Given the description of an element on the screen output the (x, y) to click on. 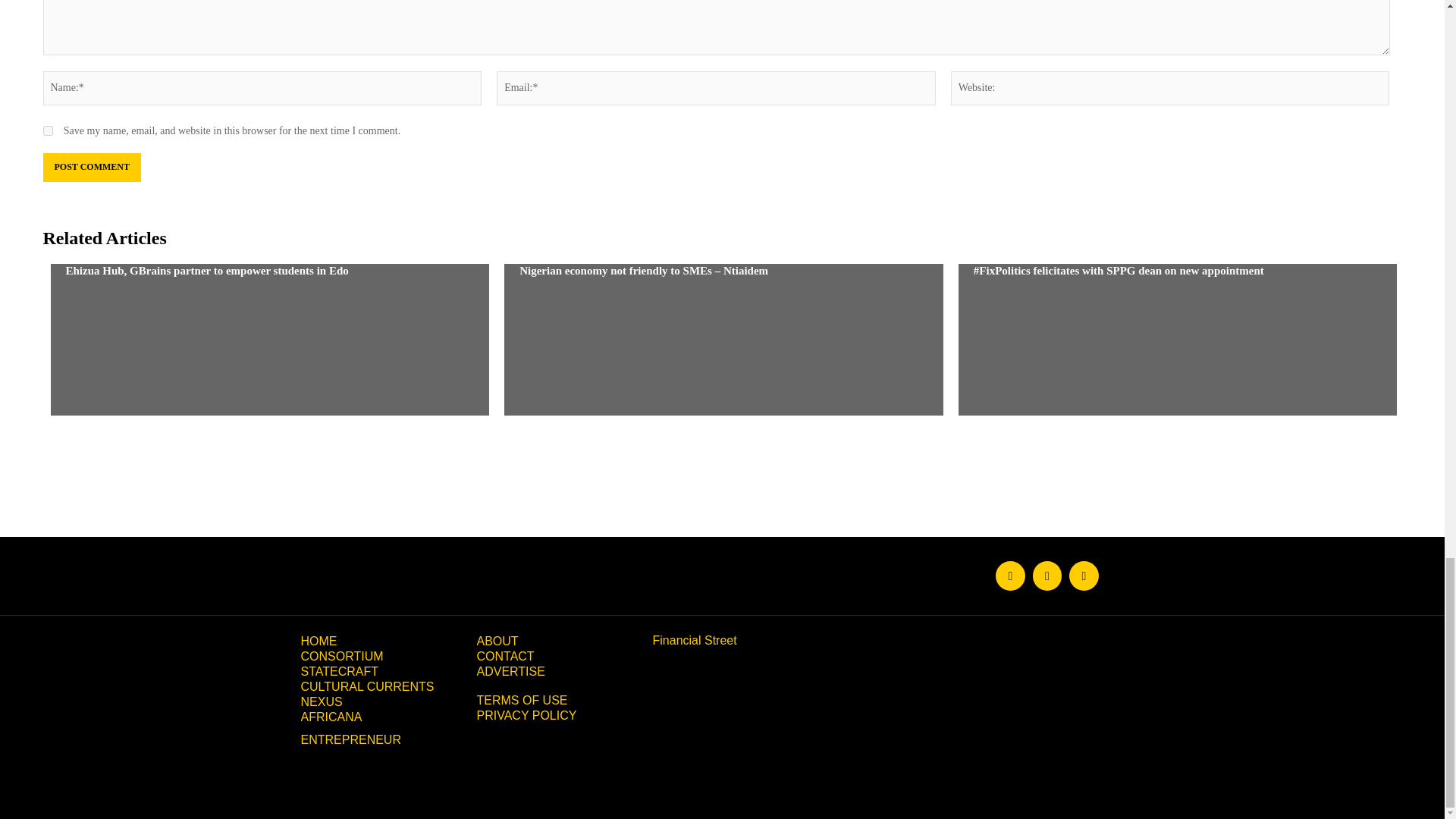
yes (47, 130)
Post Comment (90, 167)
